Given the description of an element on the screen output the (x, y) to click on. 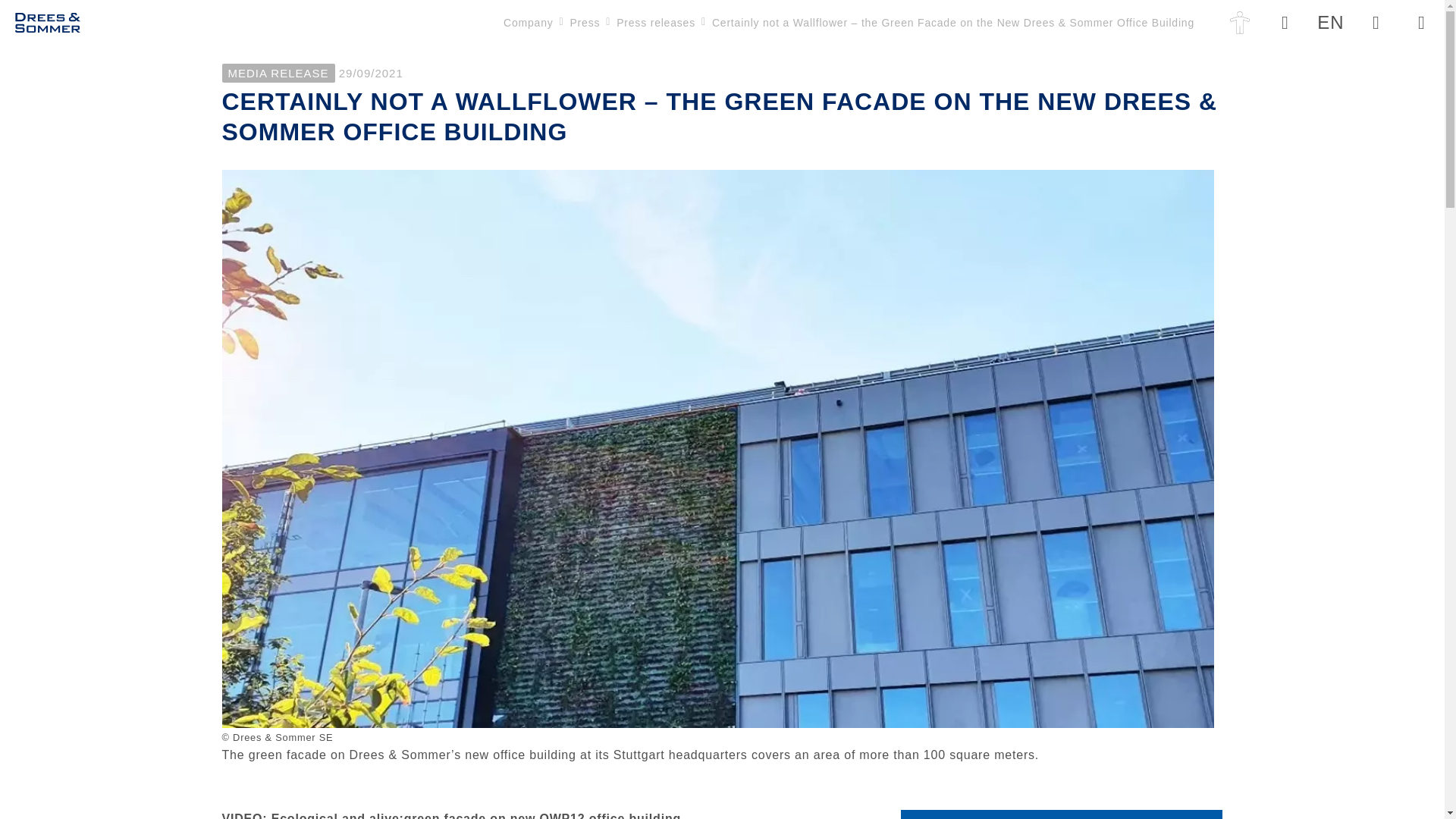
Company (528, 23)
Press releases (655, 23)
Ecological and alive: (337, 814)
EN (1330, 22)
Press (584, 23)
Press releases (655, 23)
Company (528, 23)
Press (584, 23)
